Given the description of an element on the screen output the (x, y) to click on. 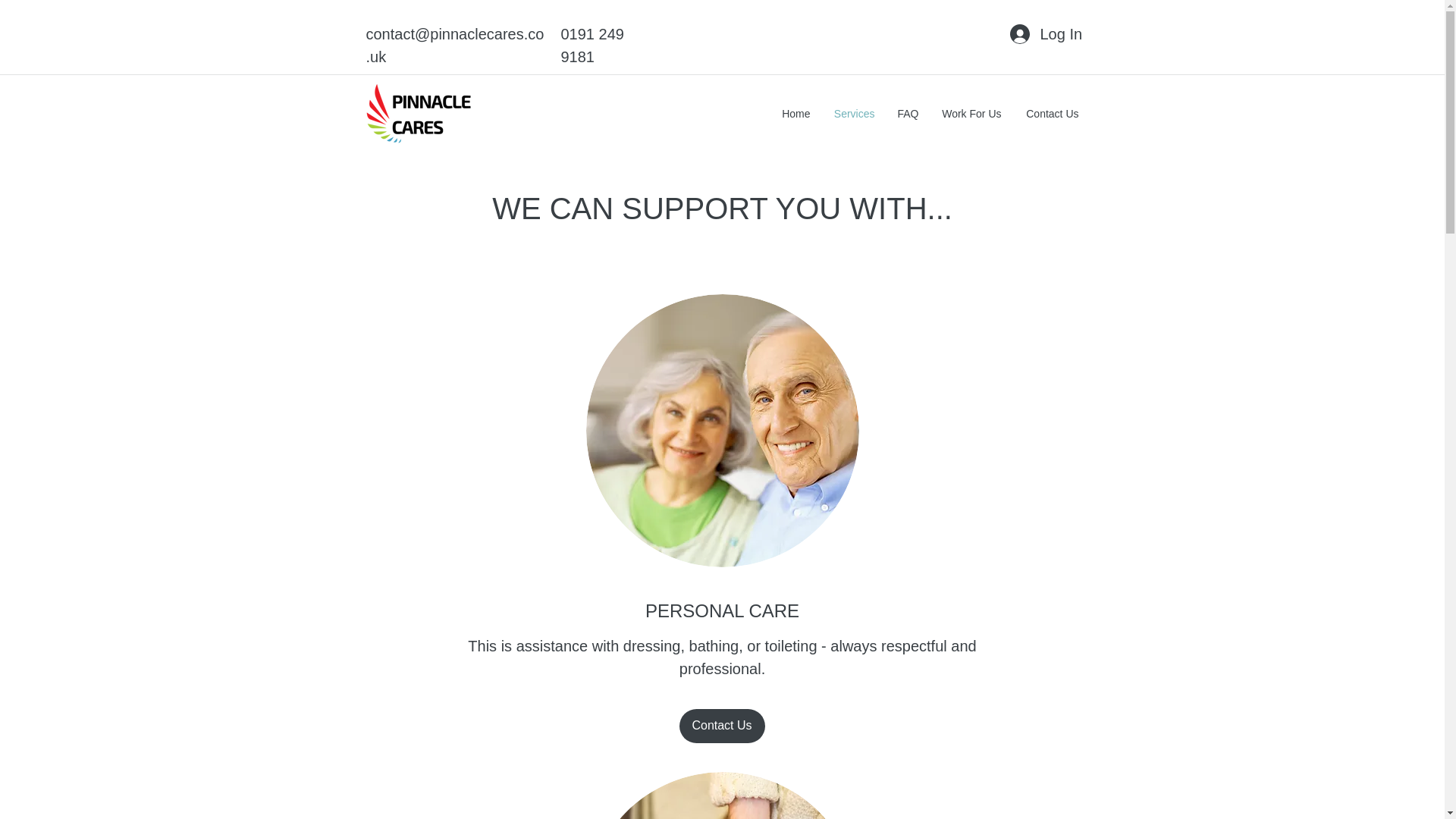
Log In (1044, 33)
FAQ (906, 113)
Services (854, 113)
Contact Us (722, 725)
Home (794, 113)
Work For Us (971, 113)
Contact Us (1051, 113)
